Given the description of an element on the screen output the (x, y) to click on. 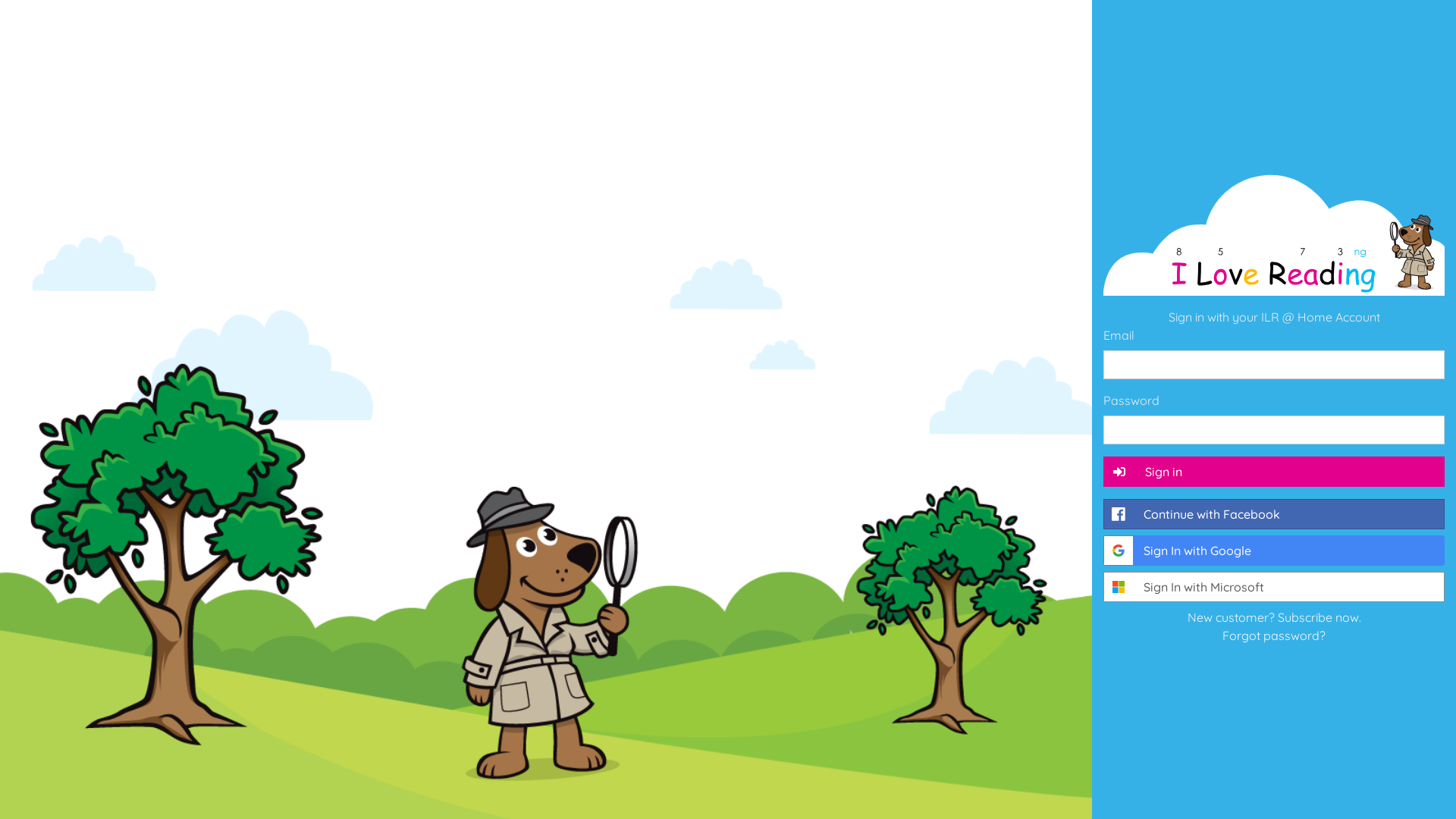
Sign In with Microsoft Element type: text (1273, 586)
Sign in Element type: text (1273, 471)
New customer? Subscribe now. Element type: text (1274, 616)
Continue with Facebook Element type: text (1273, 513)
Forgot password? Element type: text (1273, 635)
Sign In with Google Element type: text (1273, 550)
